Given the description of an element on the screen output the (x, y) to click on. 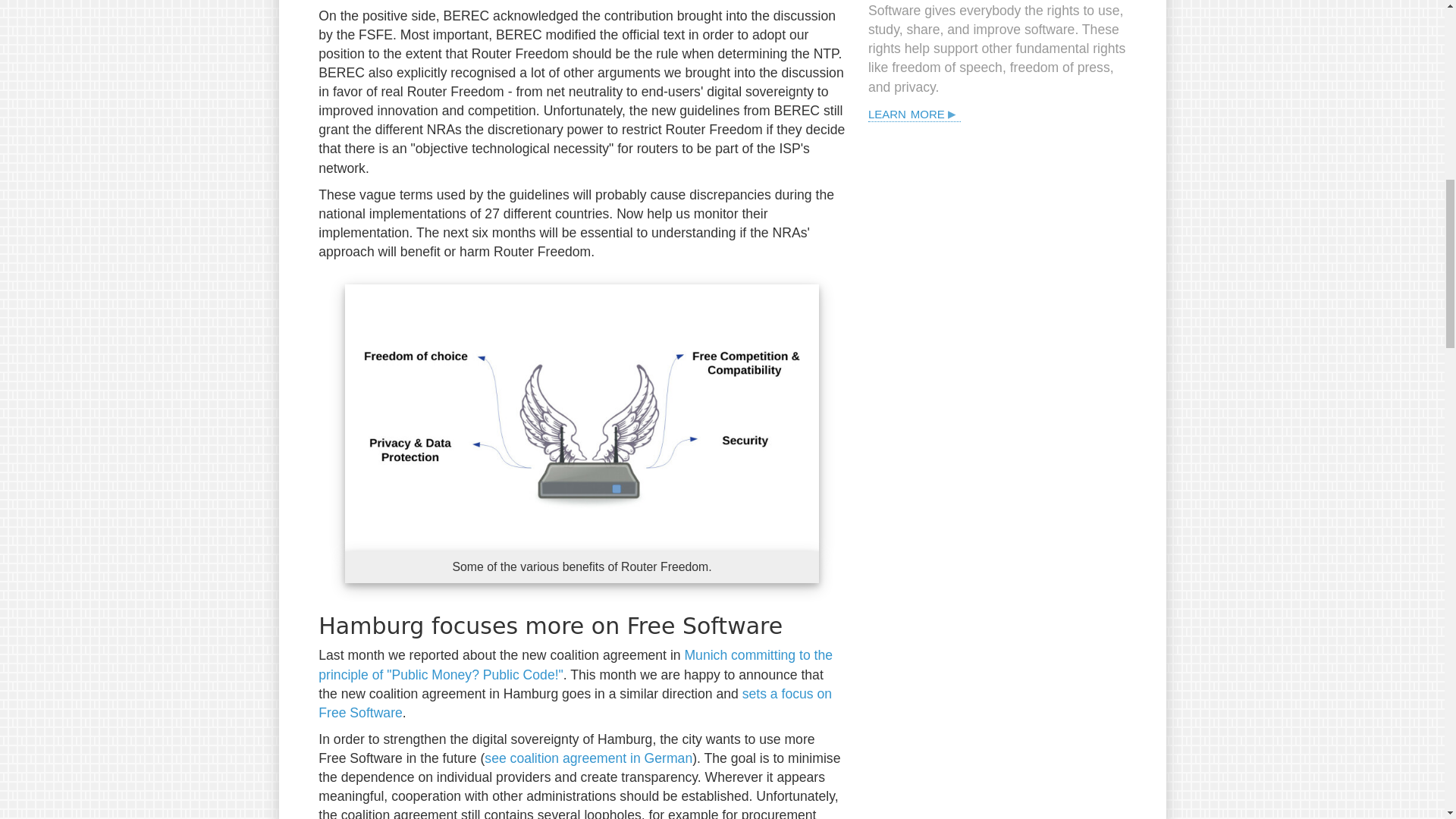
see coalition agreement in German (588, 758)
sets a focus on Free Software (574, 703)
